Given the description of an element on the screen output the (x, y) to click on. 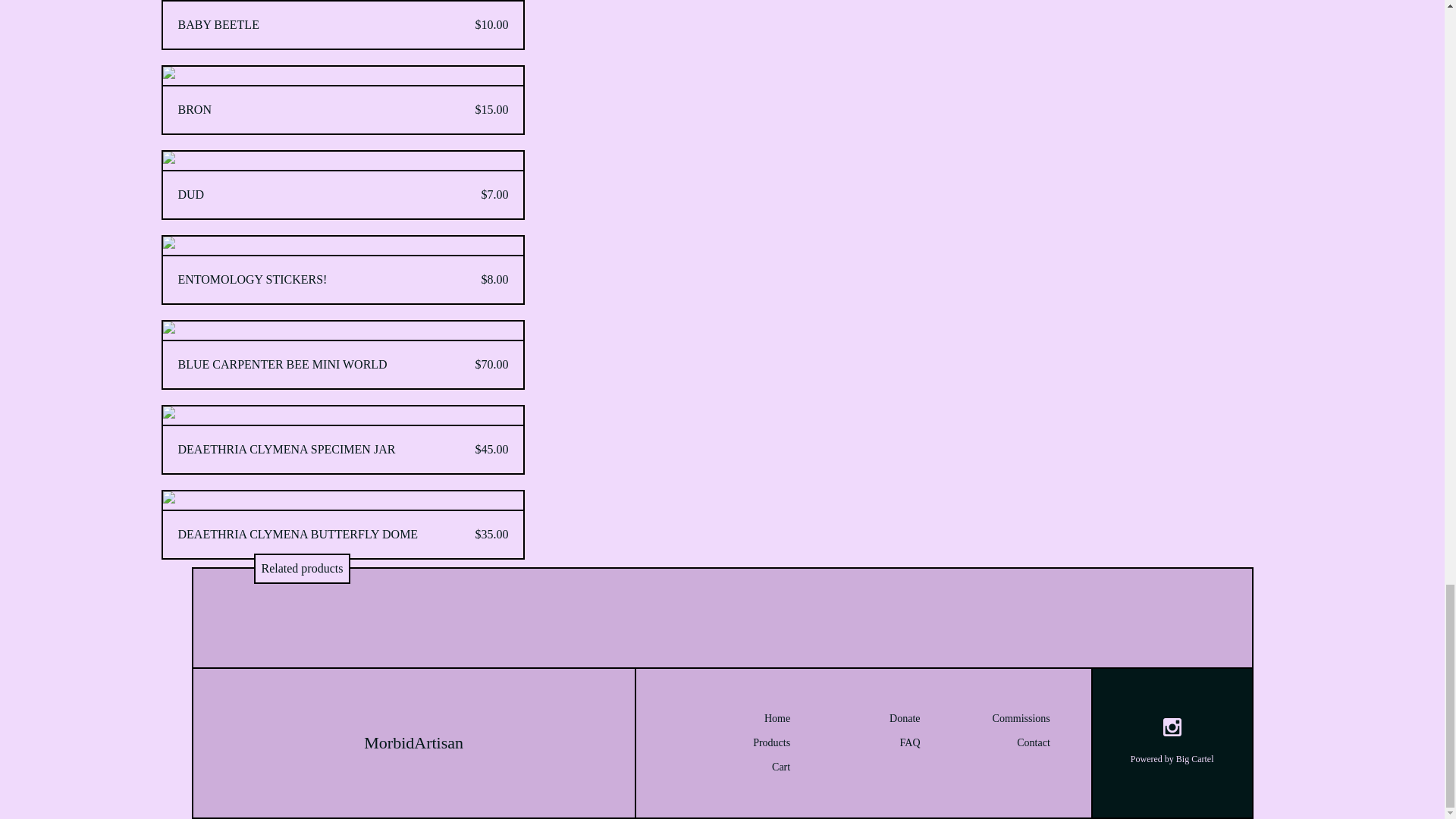
Donate (863, 718)
Home (733, 718)
Contact (993, 743)
Products (733, 743)
Commissions (993, 718)
Powered by Big Cartel (1172, 758)
FAQ (863, 743)
Cart (733, 767)
